Given the description of an element on the screen output the (x, y) to click on. 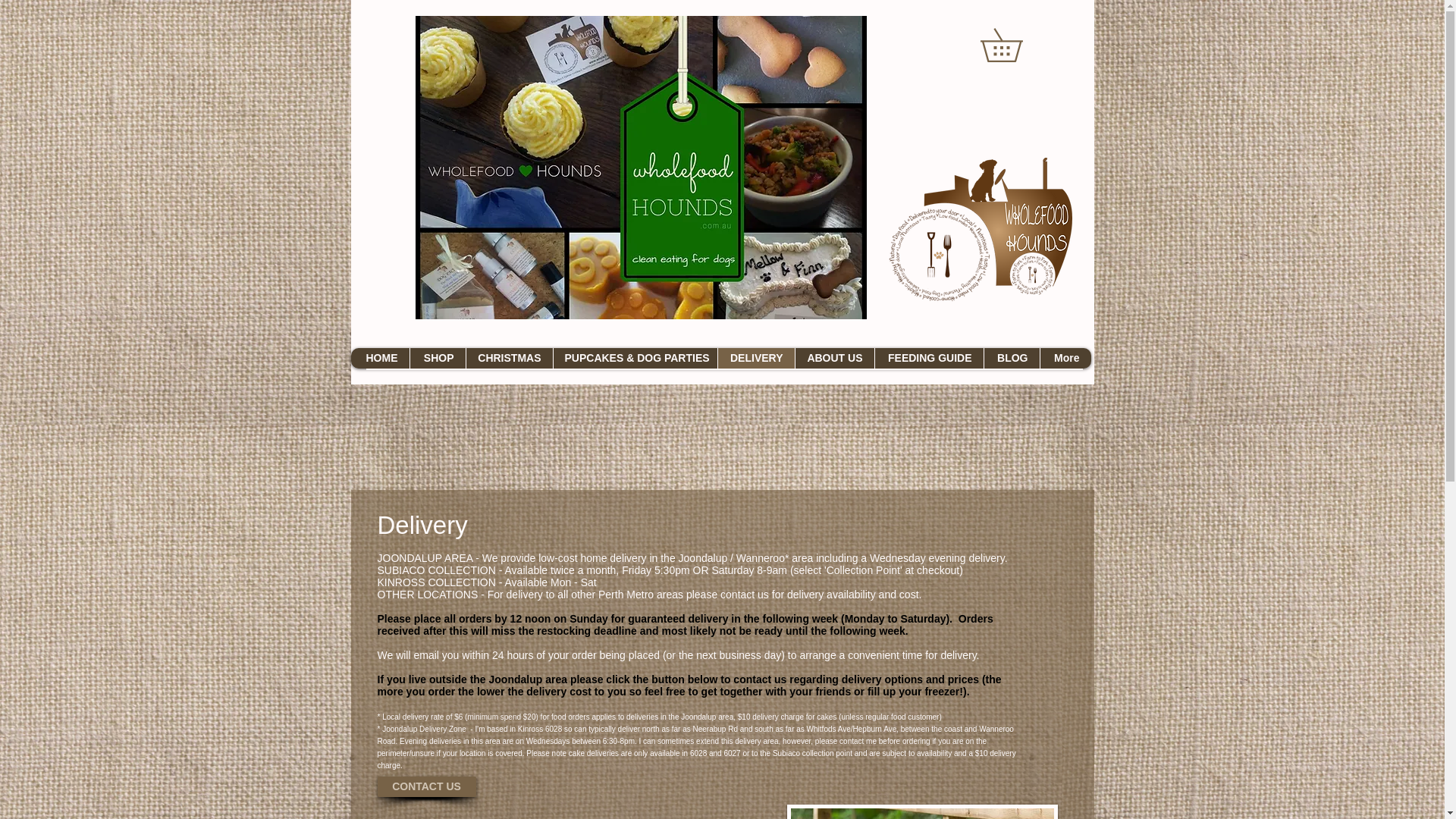
BLOG (1010, 358)
ABOUT US (834, 358)
FEEDING GUIDE (927, 358)
DELIVERY (755, 358)
Natural Pet Food Delivery Perth WA (971, 238)
CONTACT US (426, 786)
SHOP (437, 358)
HOME (379, 358)
CHRISTMAS (509, 358)
